Given the description of an element on the screen output the (x, y) to click on. 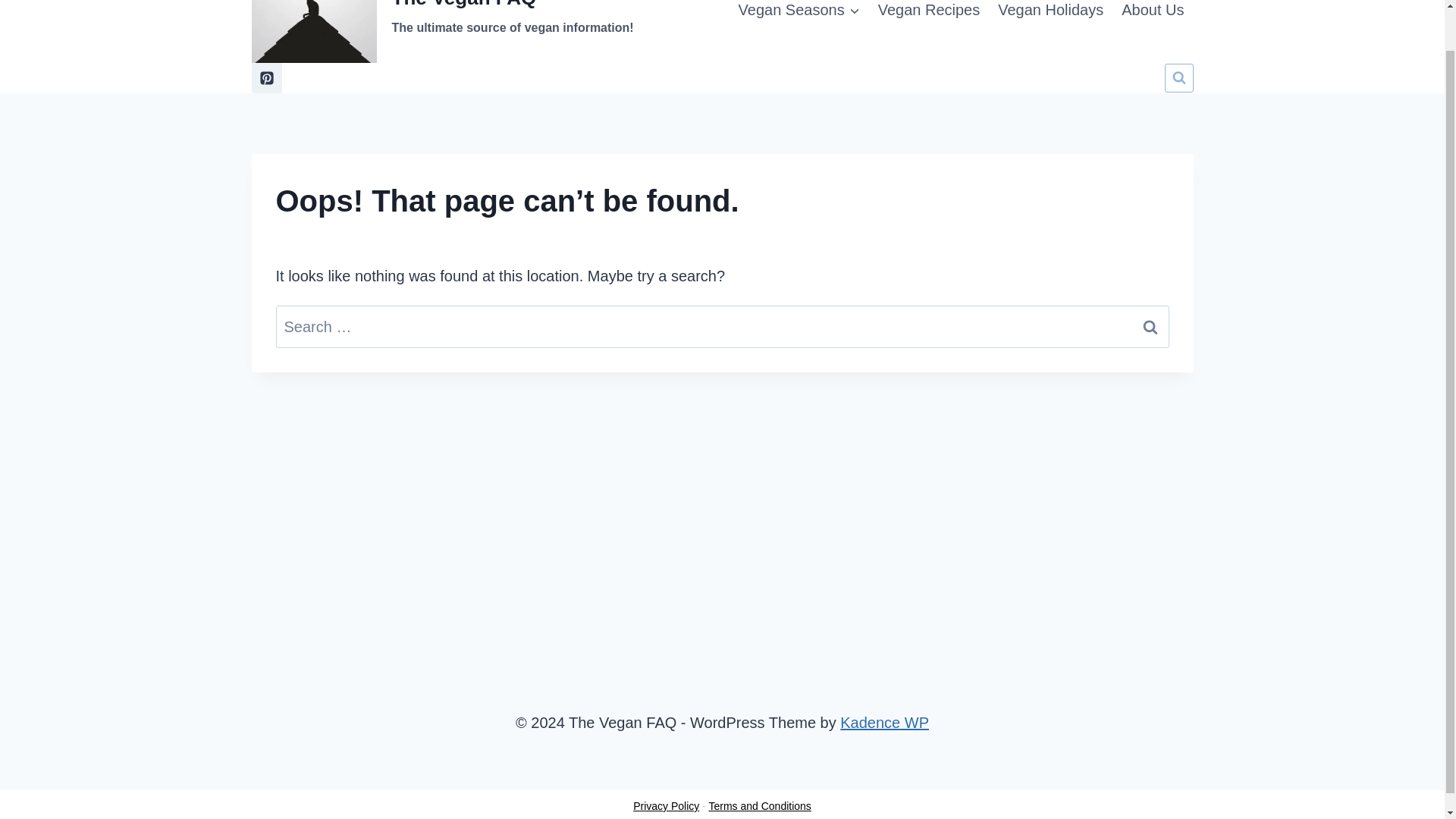
Privacy Policy (665, 806)
Search (1150, 326)
Kadence WP (884, 722)
Search (1150, 326)
Terms and Conditions (758, 806)
Vegan Recipes (929, 16)
Vegan Holidays (1050, 16)
Vegan Seasons (799, 16)
About Us (442, 31)
Search (1152, 16)
